Given the description of an element on the screen output the (x, y) to click on. 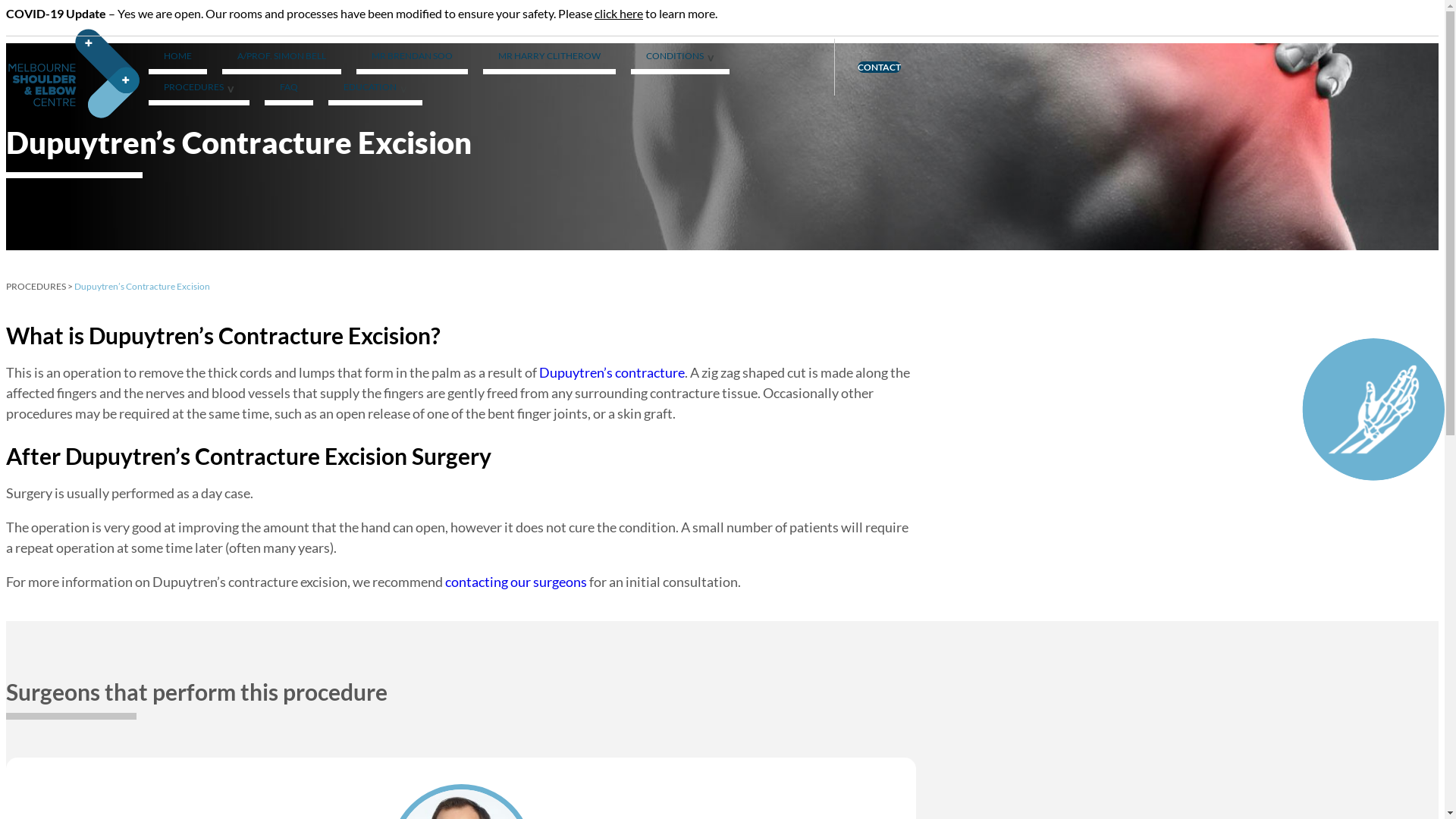
PROCEDURES Element type: text (198, 89)
CONTACT Element type: text (878, 66)
contacting our surgeons Element type: text (515, 581)
FAQ Element type: text (288, 89)
MR HARRY CLITHEROW Element type: text (549, 58)
click here Element type: text (618, 13)
MR BRENDAN SOO Element type: text (411, 58)
CONDITIONS Element type: text (679, 58)
PROCEDURES Element type: text (35, 285)
HOME Element type: text (177, 58)
A/PROF. SIMON BELL Element type: text (281, 58)
EDUCATION Element type: text (375, 89)
